Given the description of an element on the screen output the (x, y) to click on. 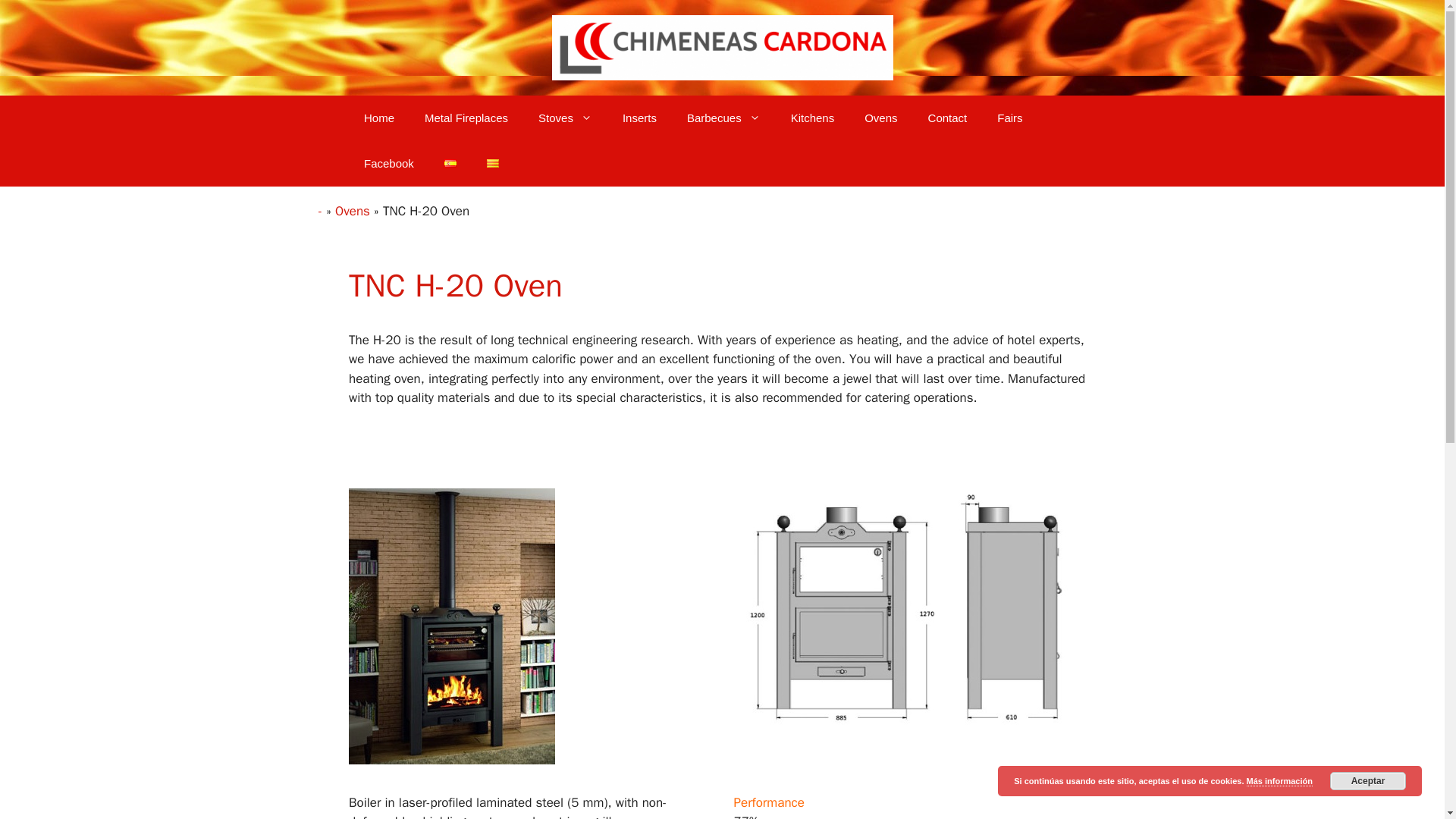
Barbecues (723, 117)
Contact (947, 117)
Stoves (564, 117)
Inserts (639, 117)
Kitchens (813, 117)
Facebook (389, 163)
Metal Fireplaces (465, 117)
Home (379, 117)
Ovens (880, 117)
Fairs (1008, 117)
Ovens (351, 211)
